Given the description of an element on the screen output the (x, y) to click on. 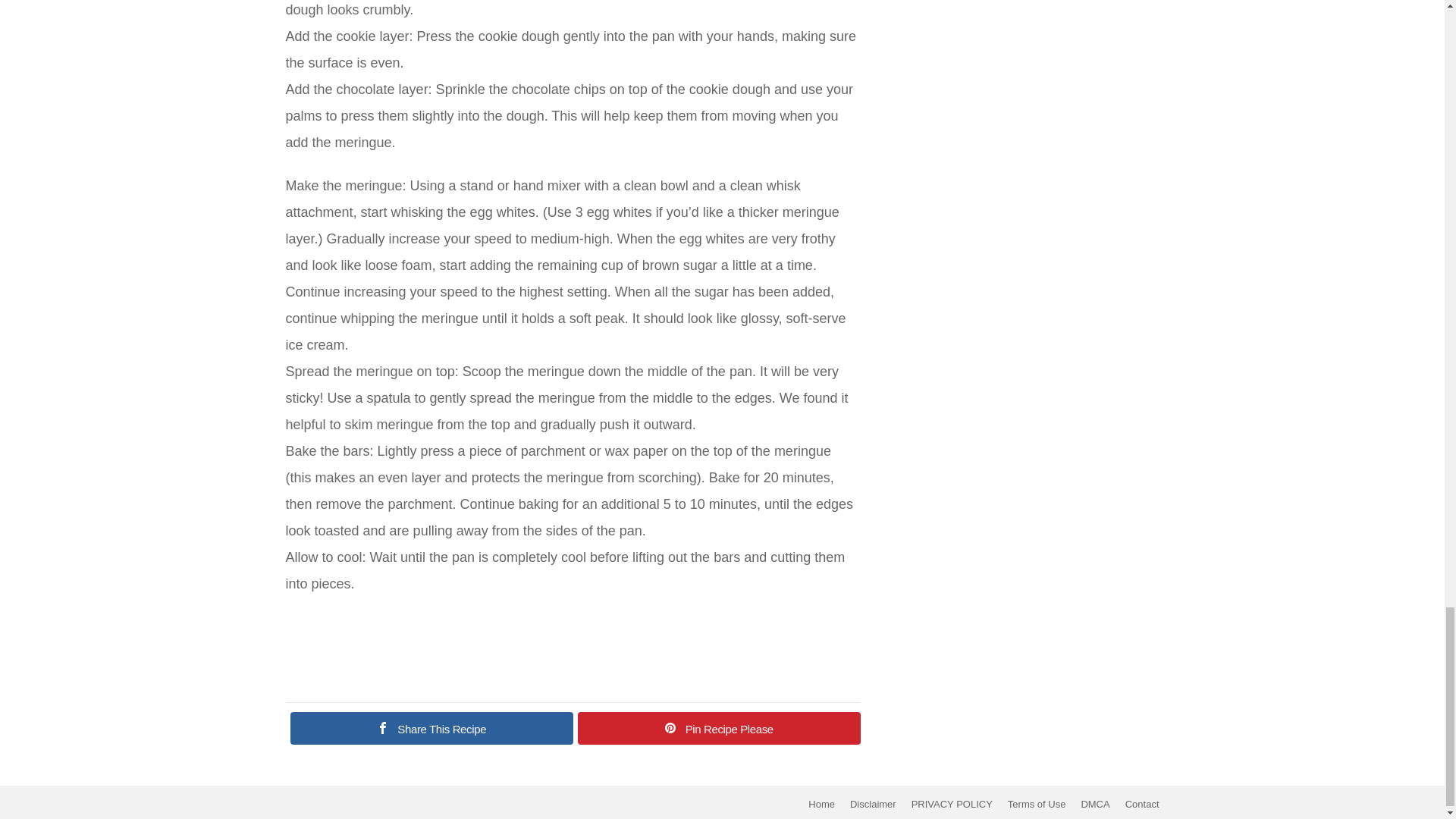
DMCA (1094, 804)
Home (821, 804)
Share This Recipe (430, 727)
Contact (1142, 804)
Terms of Use (1037, 804)
Pin Recipe Please (719, 727)
PRIVACY POLICY (952, 804)
Disclaimer (873, 804)
